Given the description of an element on the screen output the (x, y) to click on. 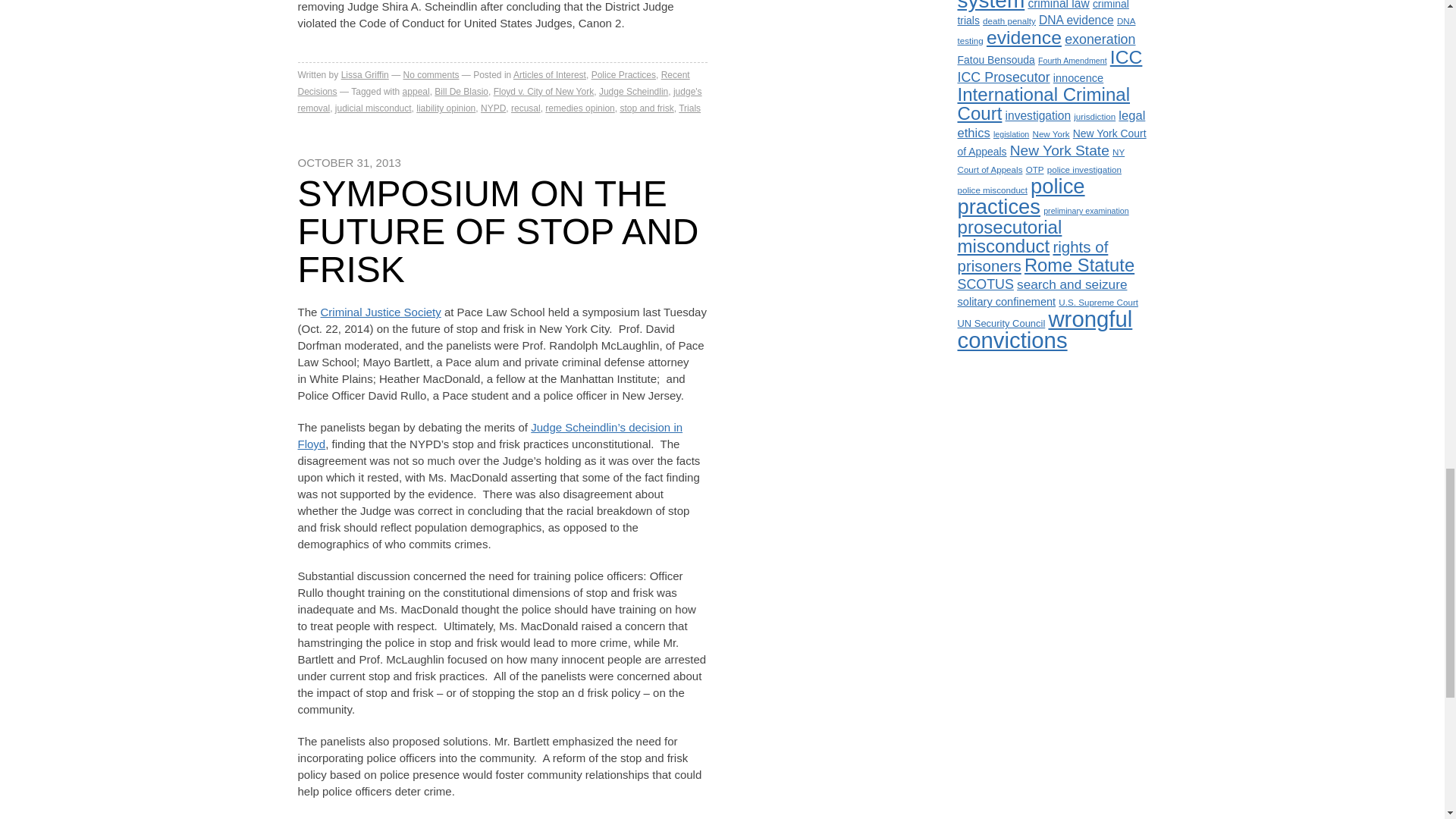
judge's removal (499, 99)
Posts by Lissa Griffin (364, 74)
appeal (416, 91)
Police Practices (623, 74)
stop and frisk (646, 108)
No comments (430, 74)
Articles of Interest (549, 74)
recusal (525, 108)
judicial misconduct (373, 108)
Lissa Griffin (364, 74)
